Given the description of an element on the screen output the (x, y) to click on. 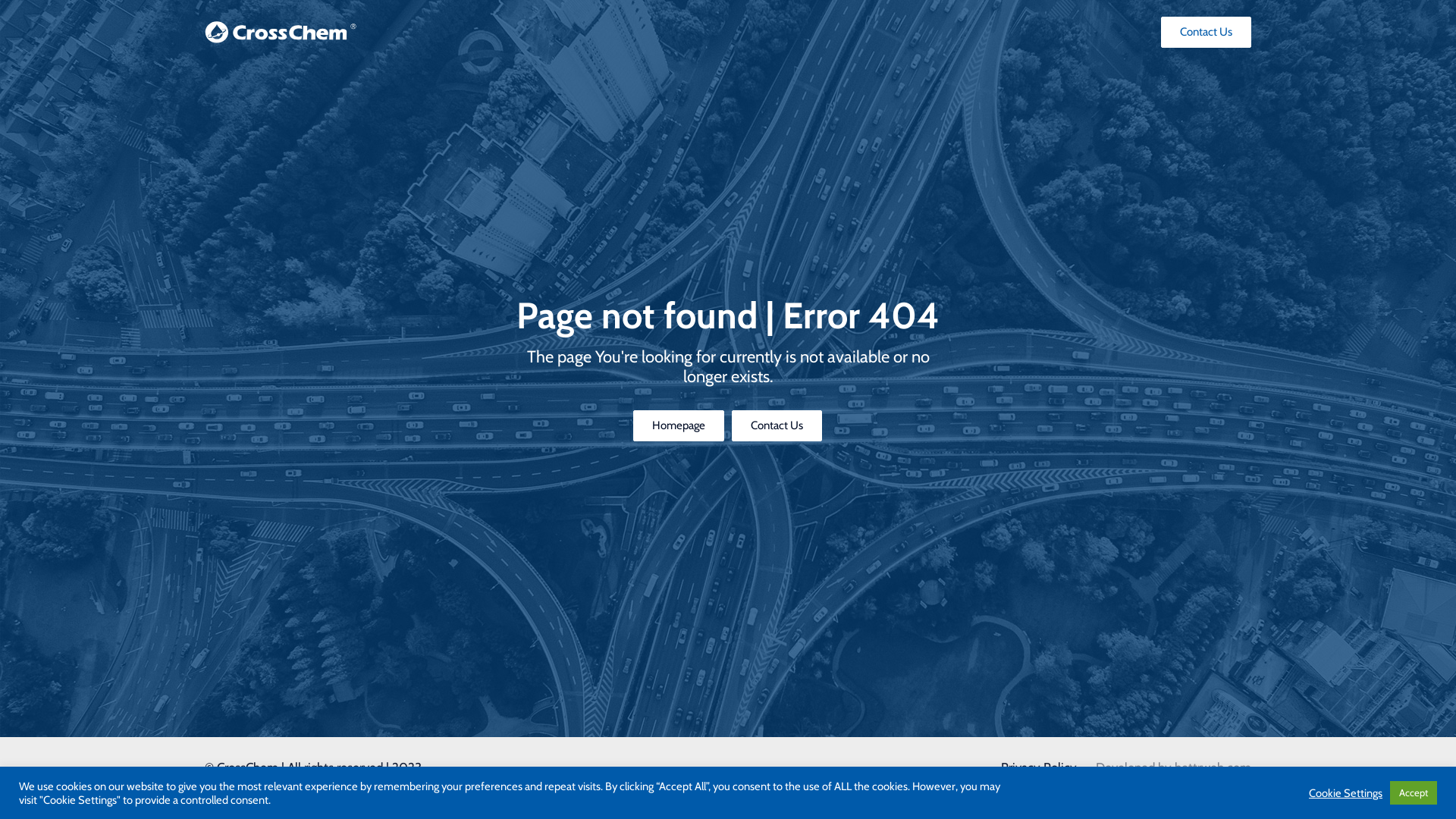
Developed by bettrweb.com Element type: text (1173, 767)
Homepage Element type: text (678, 425)
Accept Element type: text (1413, 792)
Privacy Policy Element type: text (1038, 766)
Cookie Settings Element type: text (1345, 792)
Contact Us Element type: text (776, 425)
Contact Us Element type: text (1206, 31)
